Given the description of an element on the screen output the (x, y) to click on. 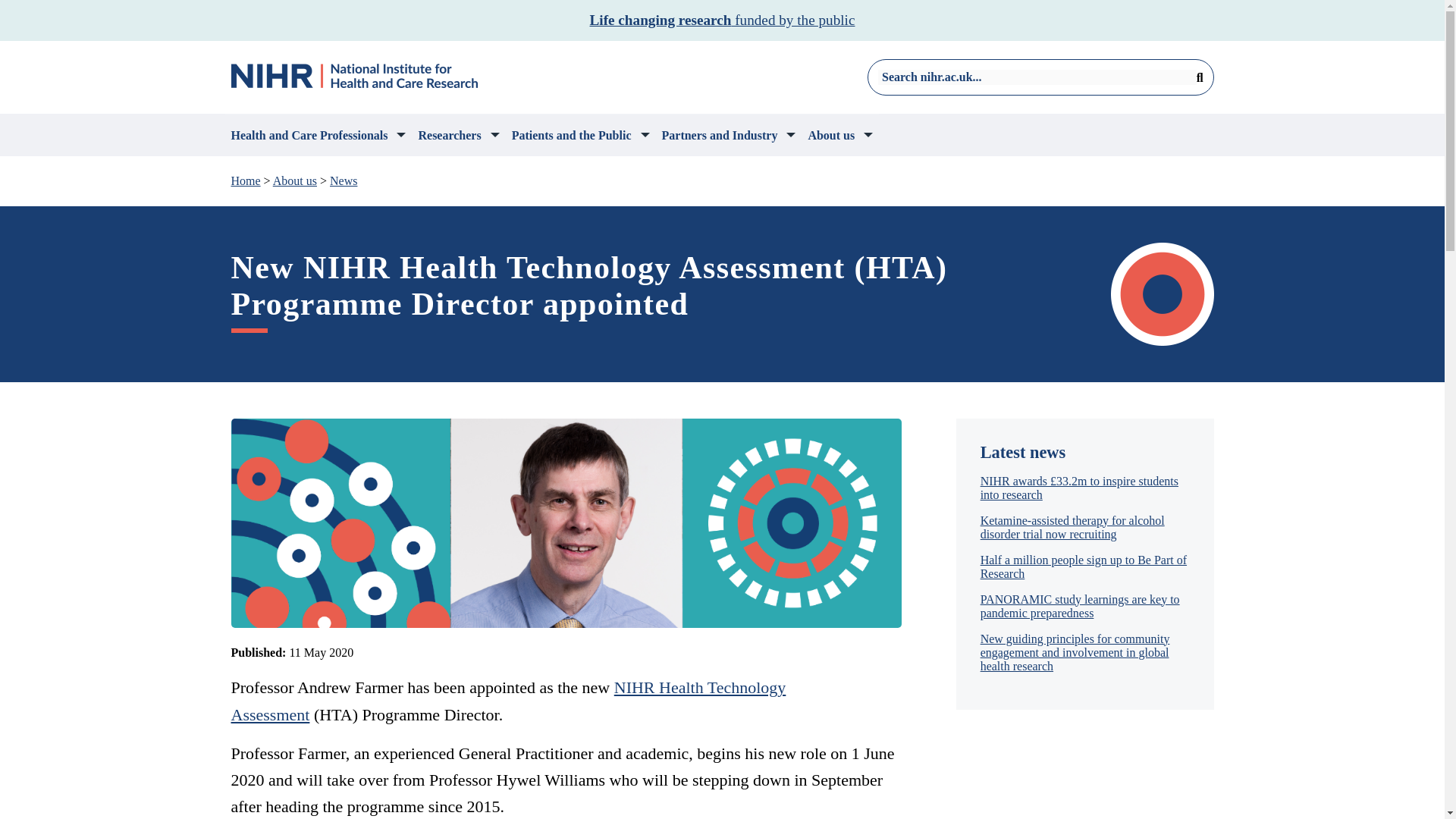
Health and Care Professionals (318, 135)
Life changing research funded by the public (722, 20)
Researchers (458, 135)
